Given the description of an element on the screen output the (x, y) to click on. 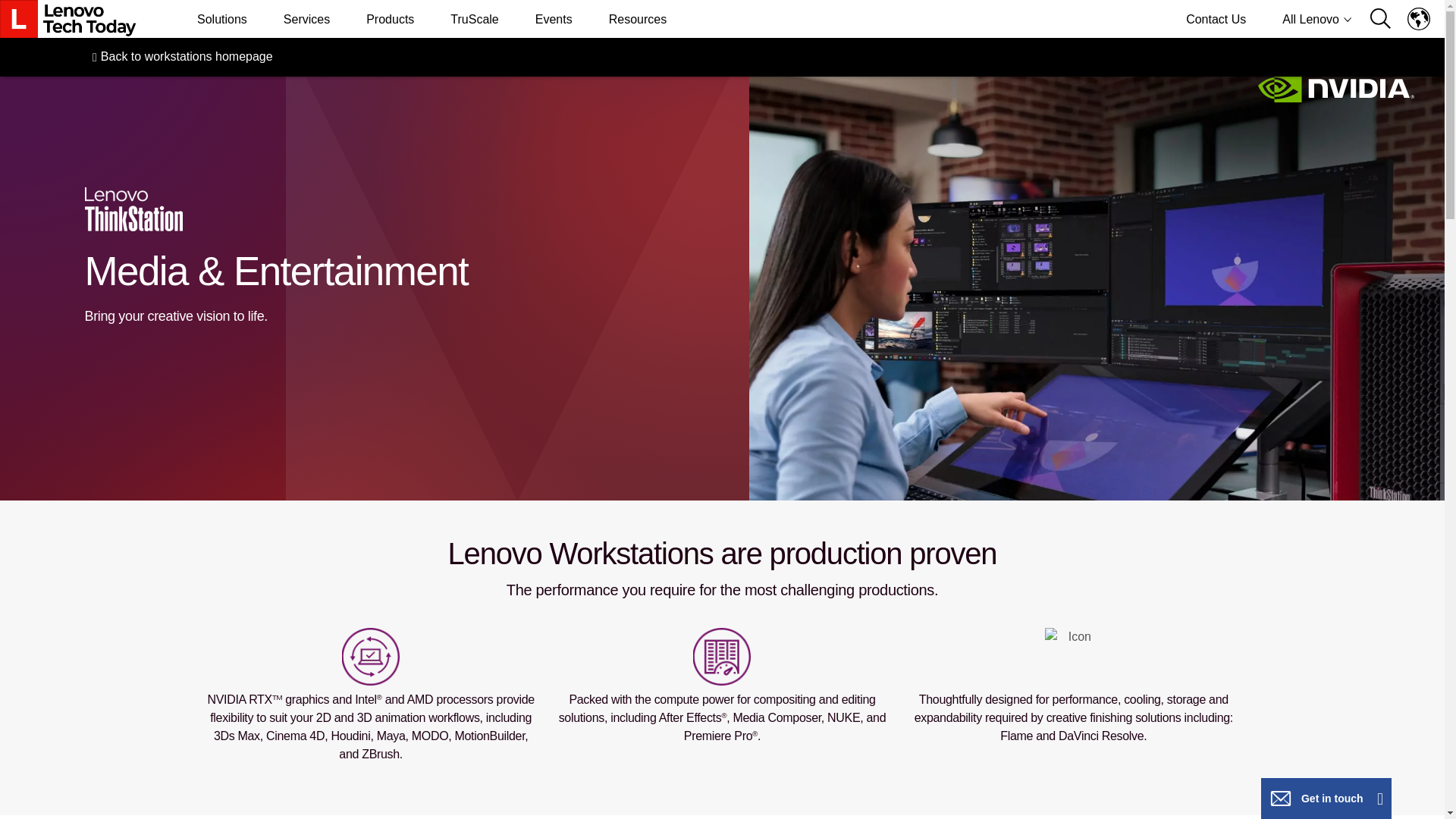
Get in touch (1325, 798)
Get in touch (1280, 798)
Search (1386, 19)
Services (305, 18)
Solutions (221, 18)
Frontpage (68, 18)
